Given the description of an element on the screen output the (x, y) to click on. 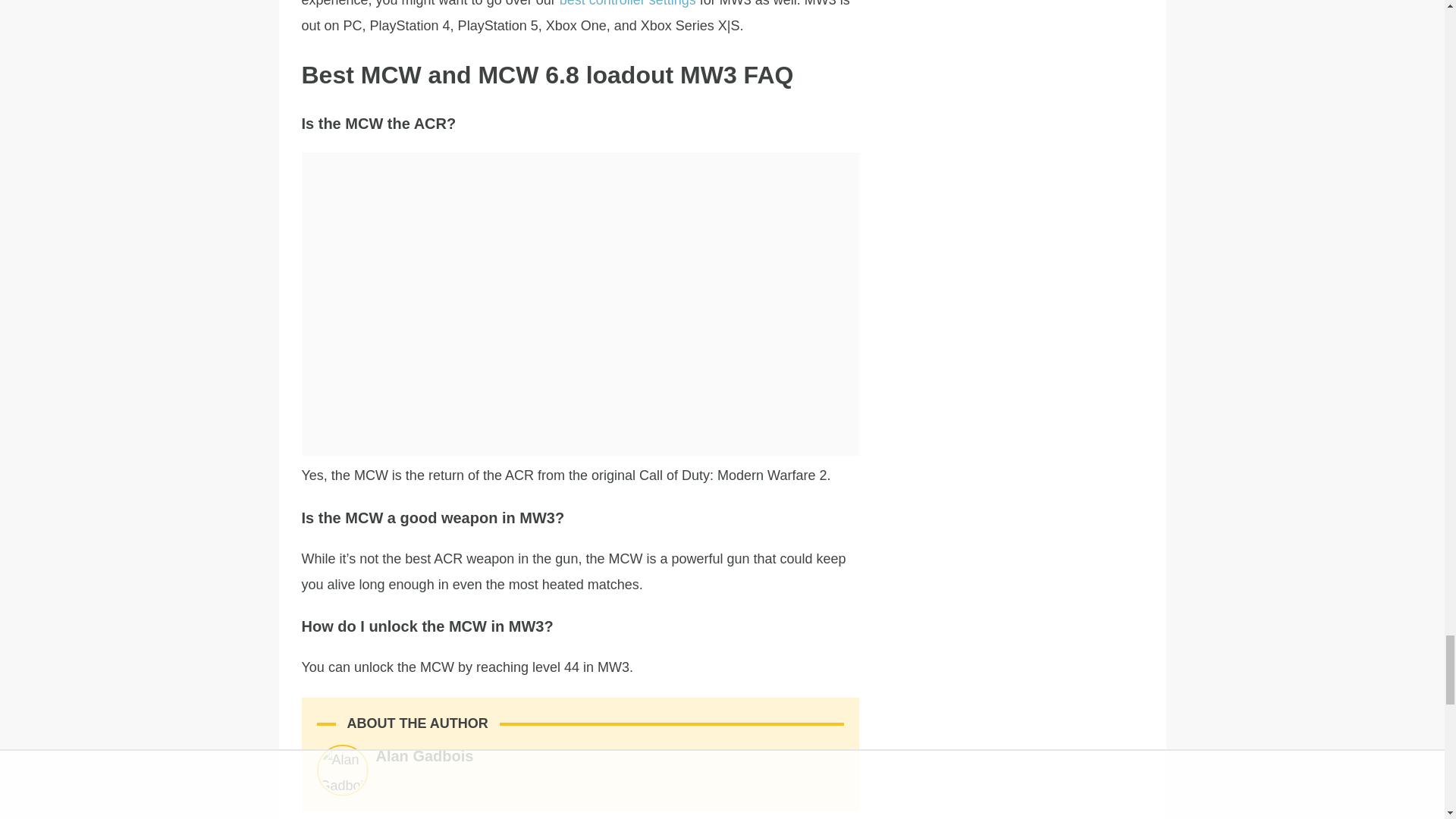
Alan Gadbois (424, 755)
best controller settings (627, 3)
